Given the description of an element on the screen output the (x, y) to click on. 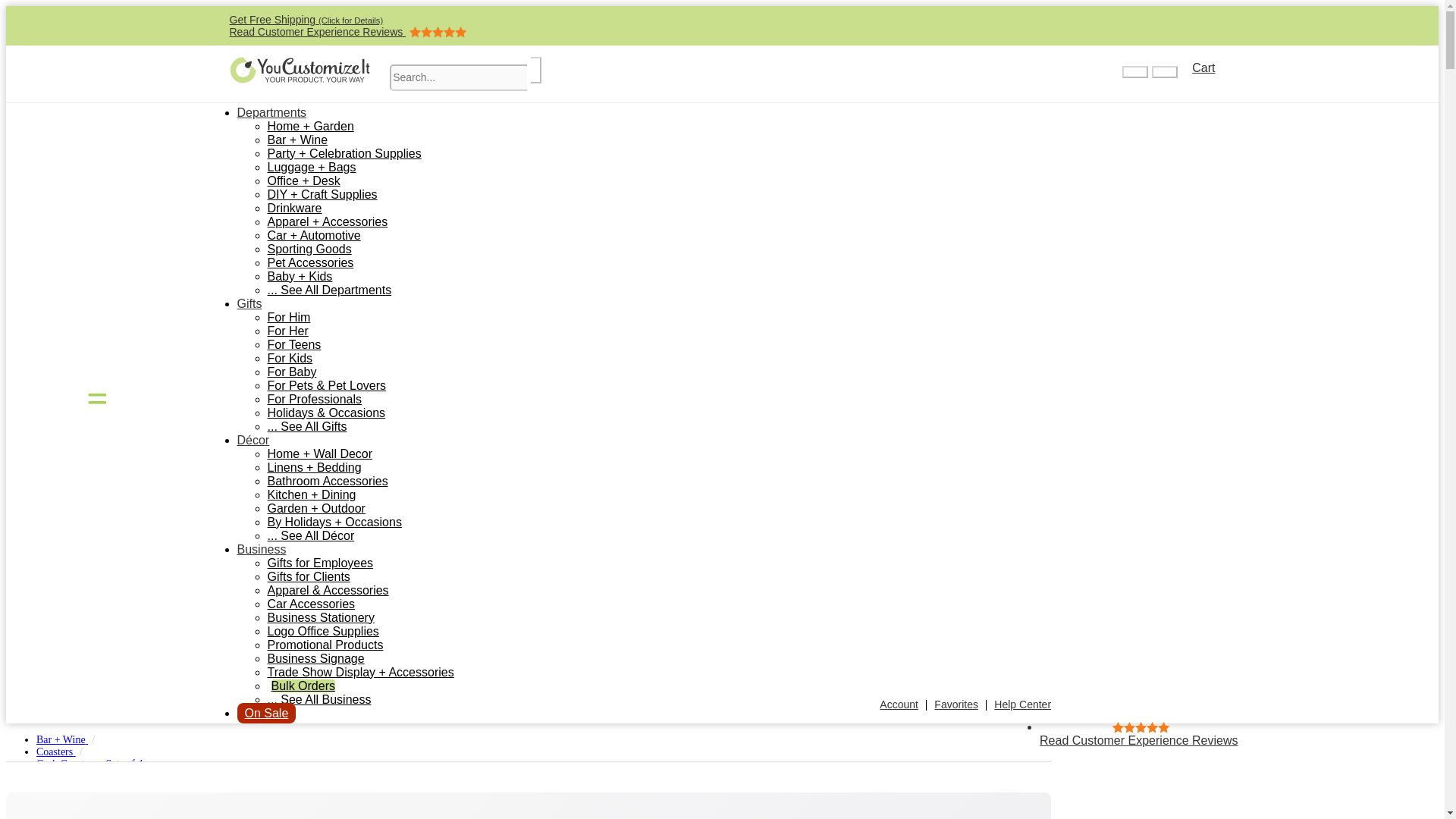
For Professionals (313, 399)
Pet Accessories (309, 262)
Departments (270, 112)
... See All Departments (328, 289)
Sporting Goods (308, 248)
For Kids (289, 358)
For Teens (293, 344)
Drinkware (1197, 67)
Gifts (293, 207)
For Baby (248, 303)
Read Customer Experience Reviews (290, 371)
Bathroom Accessories (346, 31)
... See All Gifts (326, 481)
For Her (306, 426)
